Given the description of an element on the screen output the (x, y) to click on. 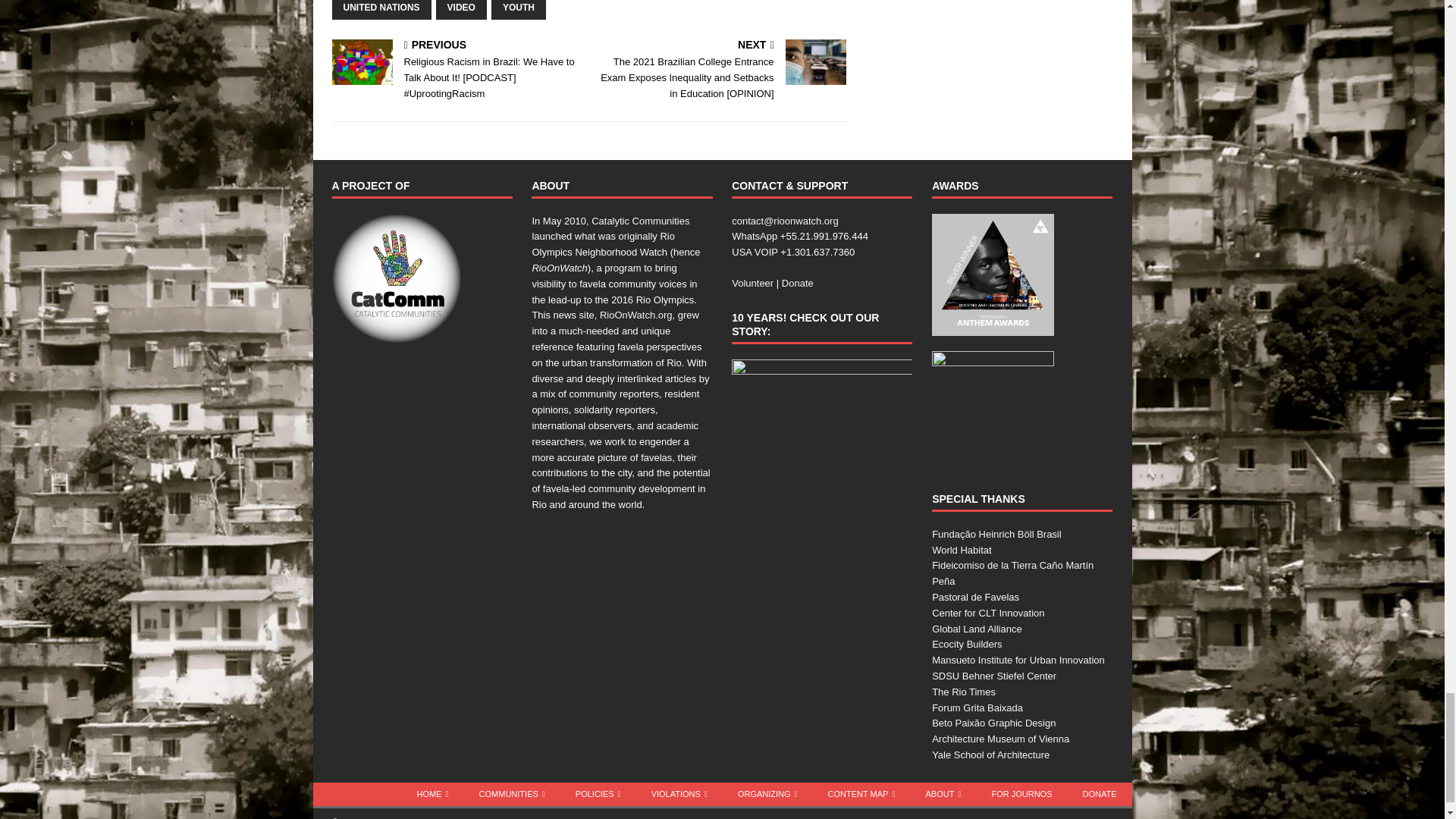
Comunidades Catalisadoras (396, 278)
